Given the description of an element on the screen output the (x, y) to click on. 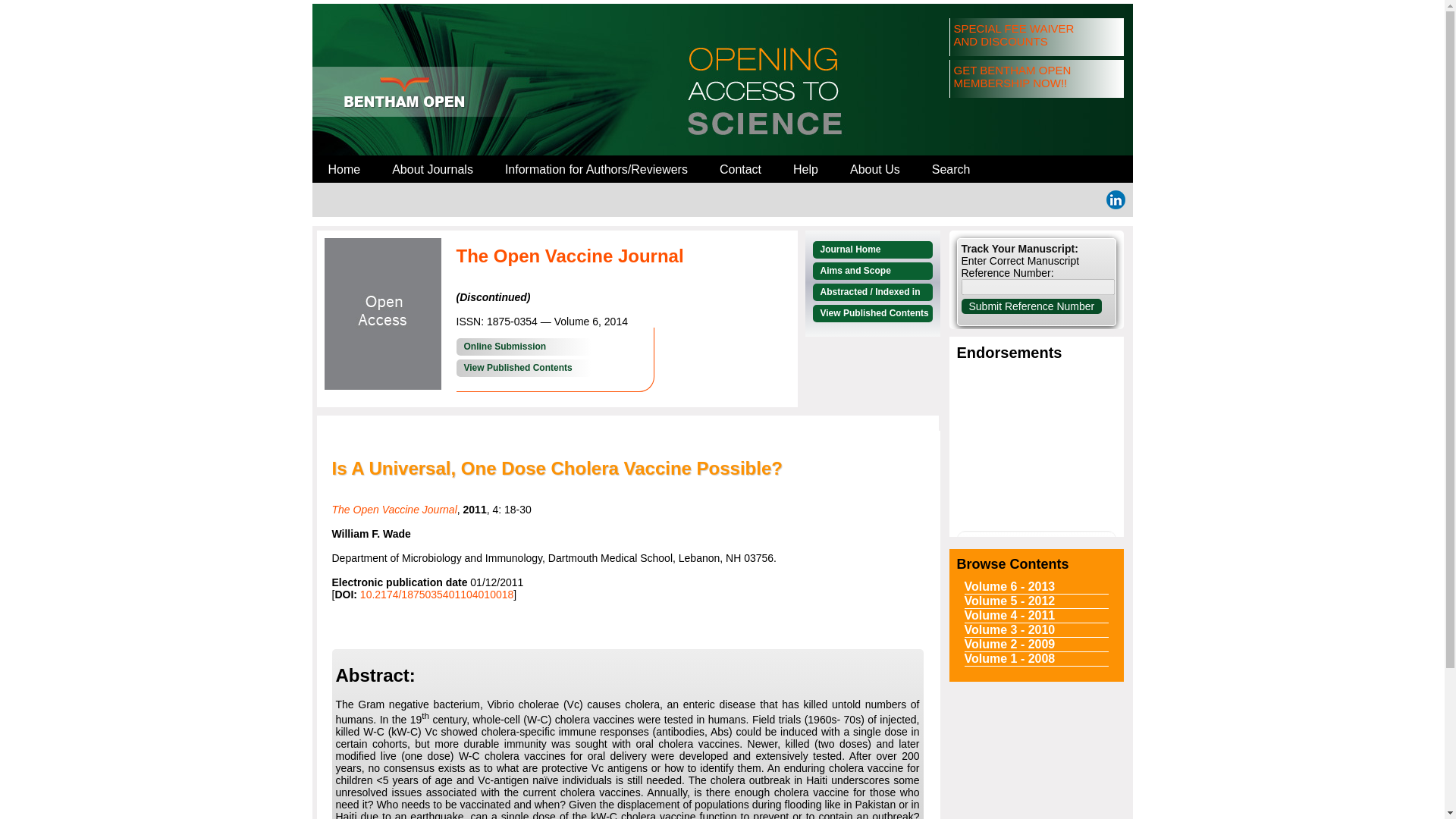
Contact (1036, 78)
Help (740, 169)
About Us (804, 169)
Online Submission (1036, 37)
Home (874, 169)
About Journals (524, 346)
View Published Contents (344, 169)
Search (432, 169)
